Given the description of an element on the screen output the (x, y) to click on. 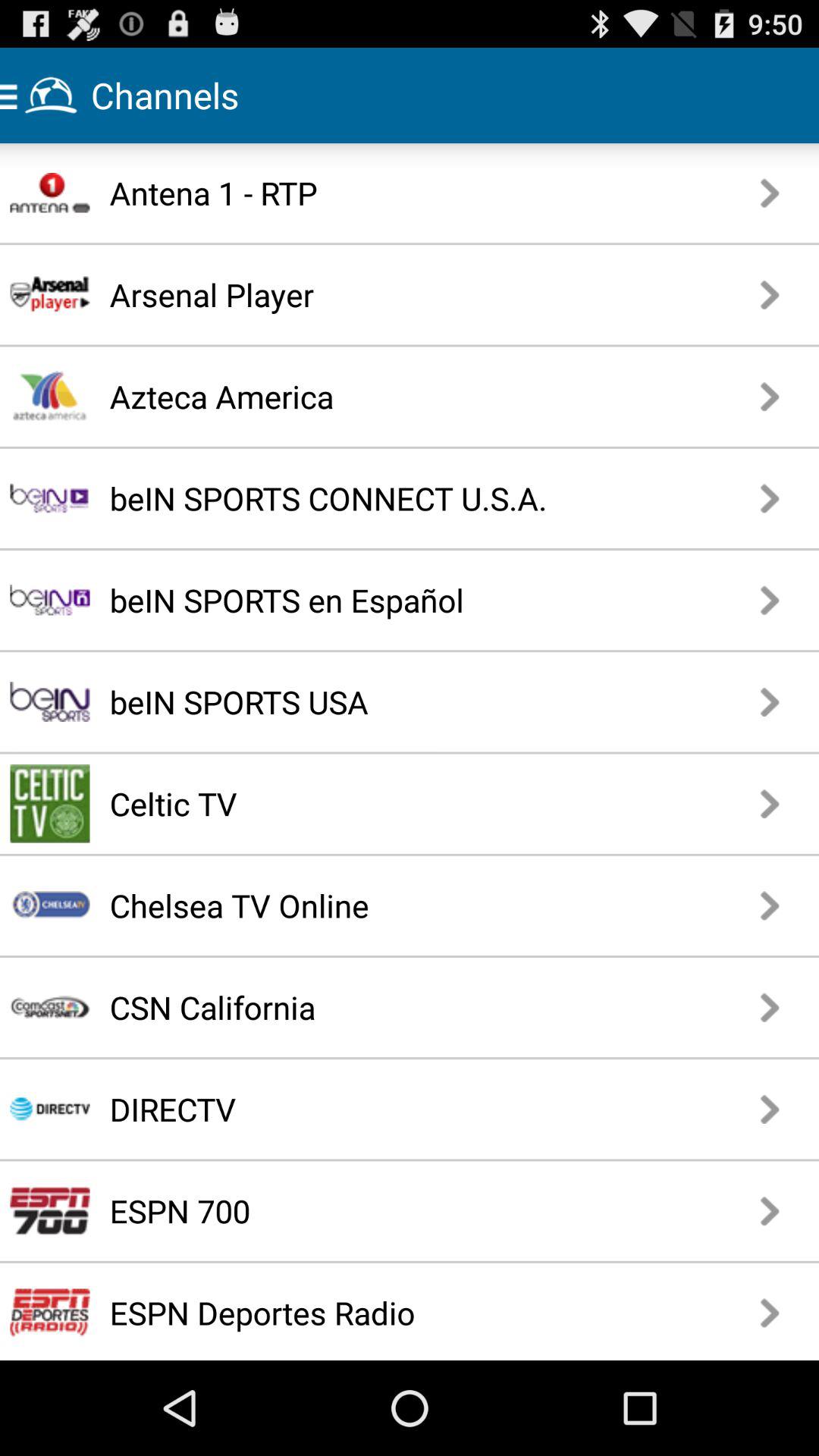
choose app above csn california item (374, 905)
